Given the description of an element on the screen output the (x, y) to click on. 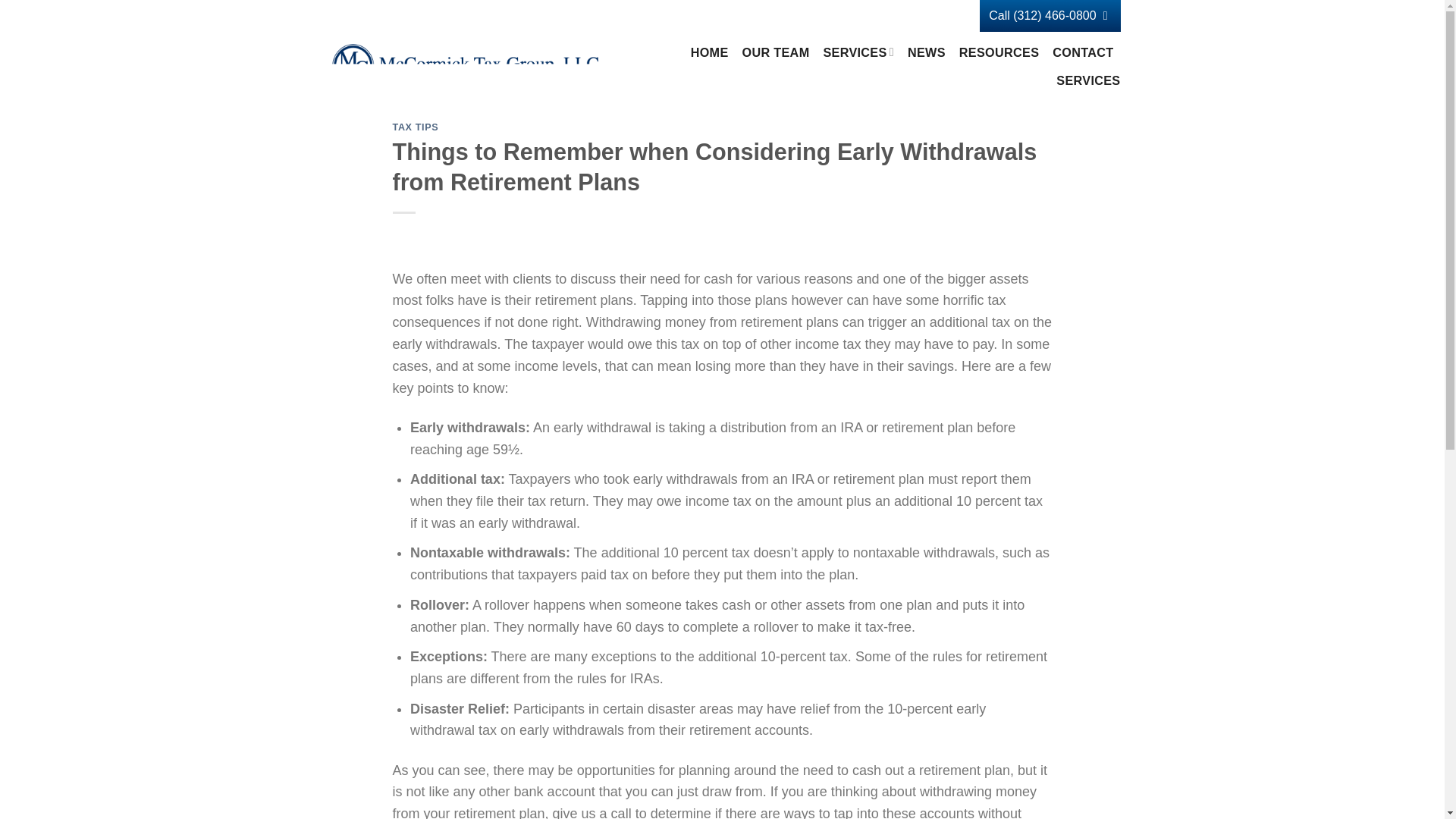
HOME (709, 52)
OUR TEAM (775, 52)
CONTACT (1082, 52)
TAX TIPS (416, 127)
SERVICES (857, 51)
SERVICES (1088, 80)
NEWS (925, 52)
RESOURCES (999, 52)
